Given the description of an element on the screen output the (x, y) to click on. 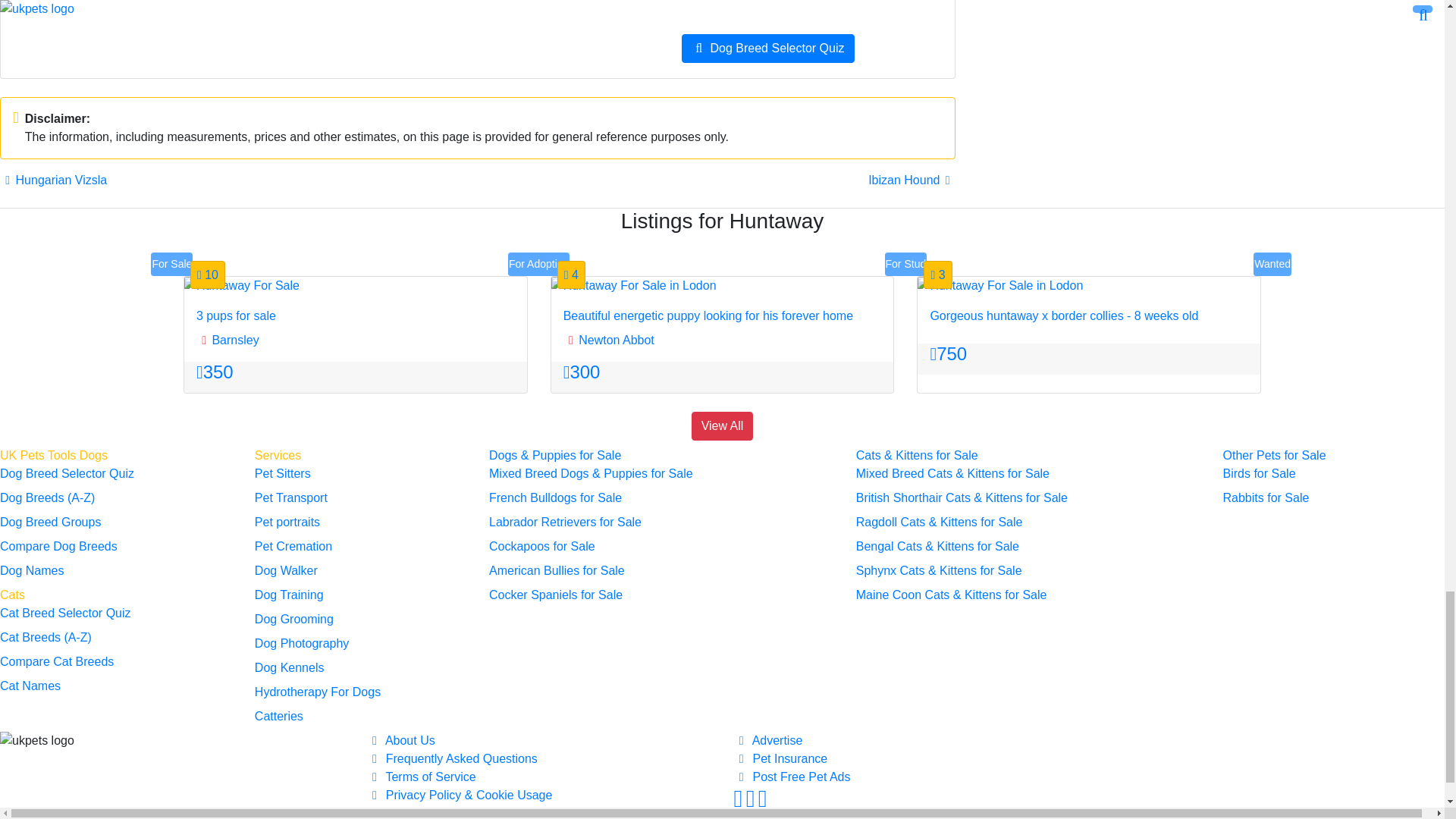
Beautiful energetic puppy looking for his forever home (633, 285)
3 pups for sale (241, 285)
Gorgeous huntaway x border collies - 8 weeks old (1000, 285)
